Given the description of an element on the screen output the (x, y) to click on. 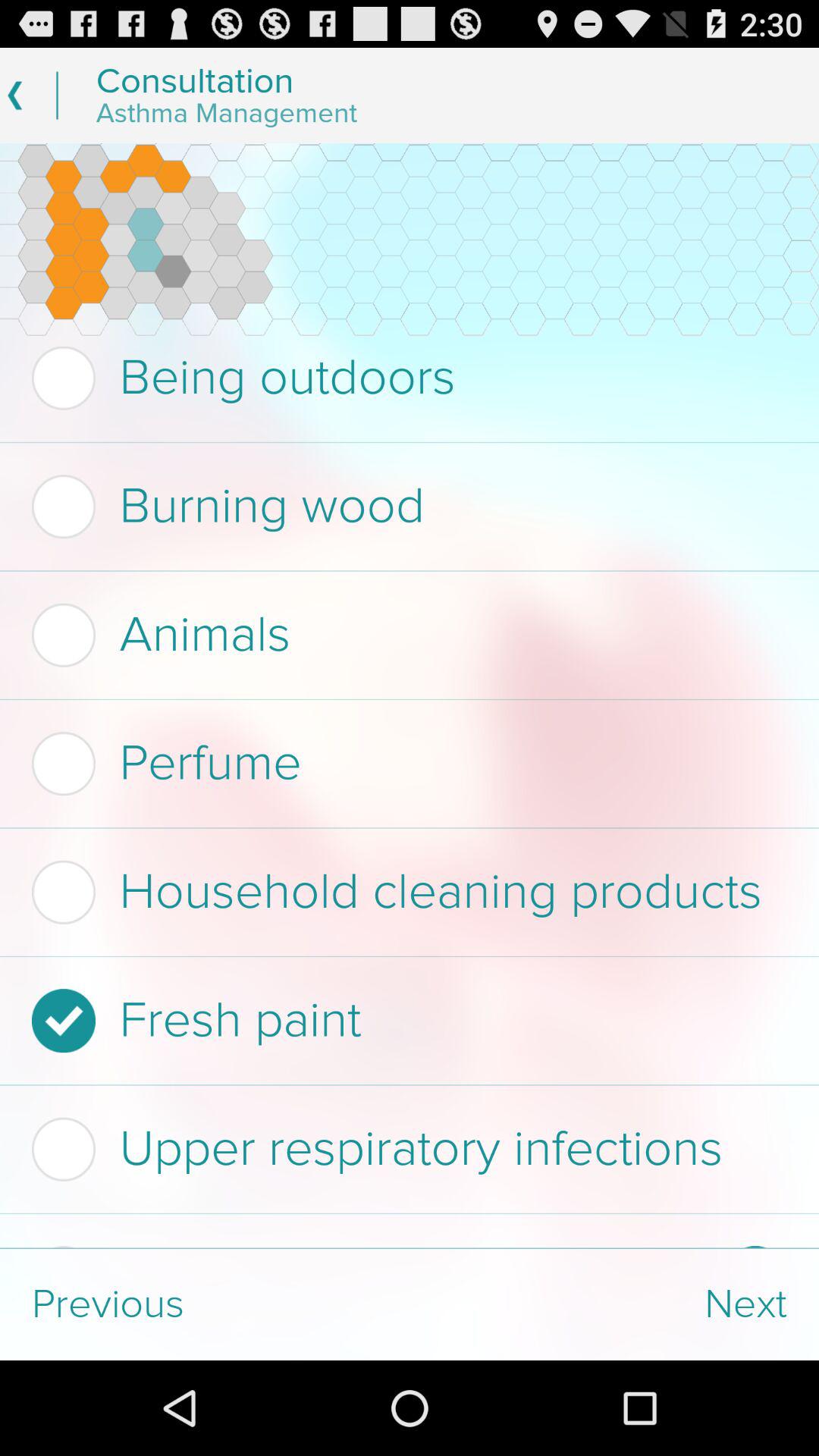
launch item below the animals icon (405, 763)
